Given the description of an element on the screen output the (x, y) to click on. 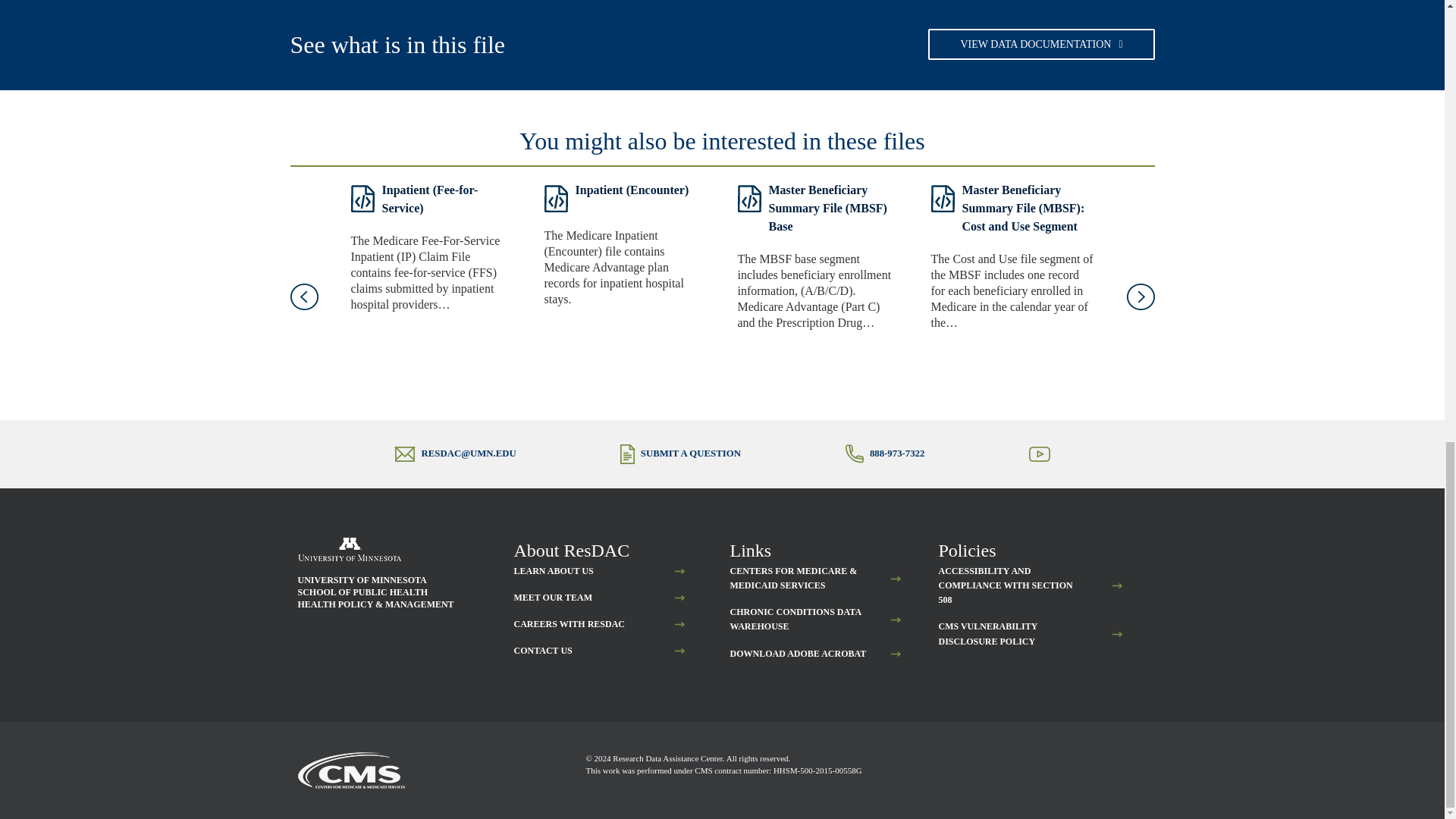
YOUTUBE (1053, 464)
Next (1140, 296)
Previous (303, 296)
VIEW DATA DOCUMENTATION (1041, 43)
Learn about ResDAC (553, 571)
CMS Vulnerability Disclosure Policy (1011, 633)
Accessibility and Compliance with Section 508 (1011, 586)
University of Minnesota School of Public Health (349, 549)
888-973-7322 (896, 453)
SUBMIT A QUESTION (690, 453)
